Given the description of an element on the screen output the (x, y) to click on. 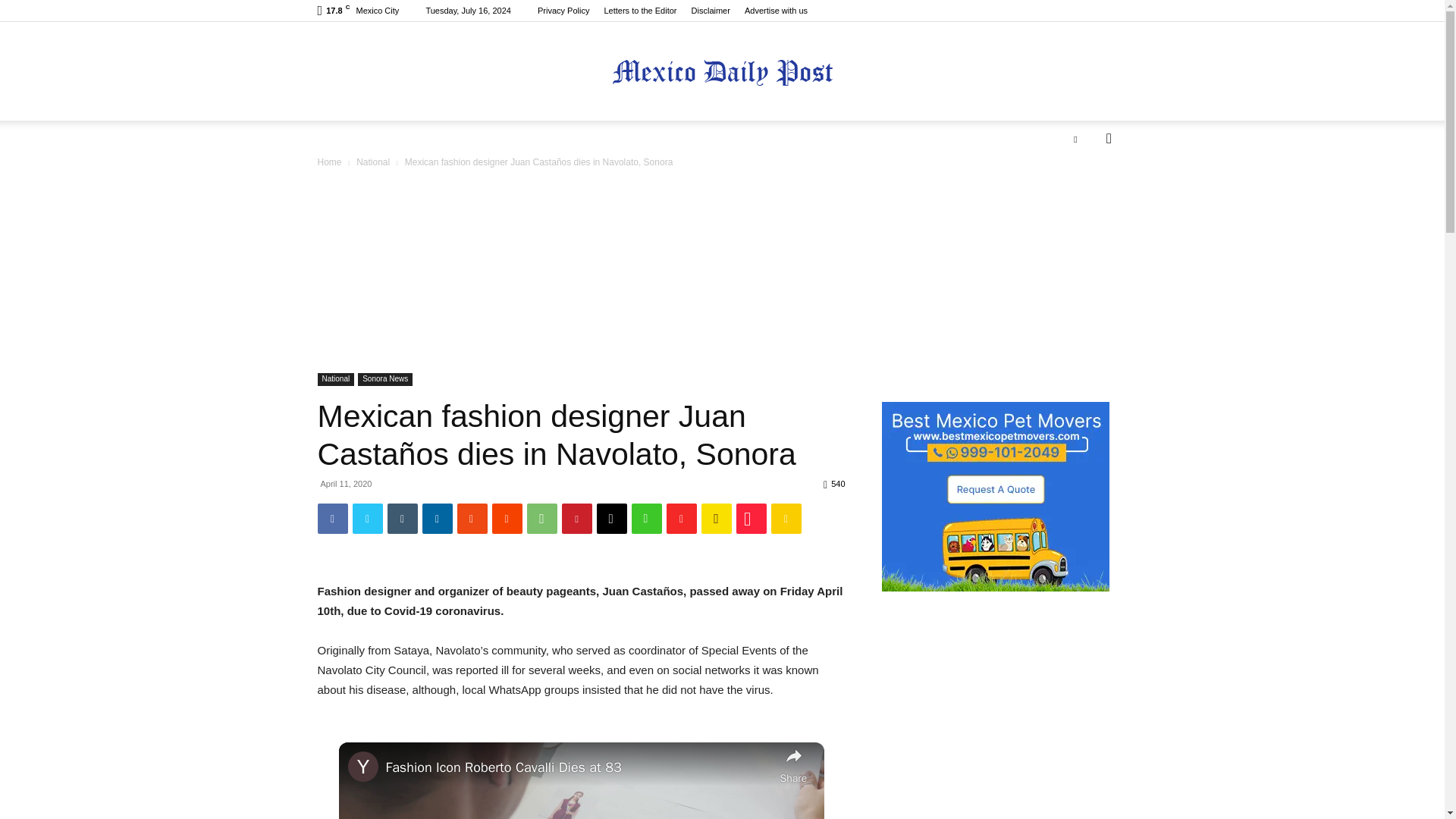
Mix (471, 518)
ReddIt (506, 518)
Tumblr (401, 518)
Privacy Policy (563, 10)
Flip (680, 518)
Sonora News (385, 379)
National (335, 379)
Digg (610, 518)
Pinterest (575, 518)
Twitter (366, 518)
Home (328, 162)
Facebook (332, 518)
Advertise with us (776, 10)
Mexico Daily Post (721, 72)
WhatsApp (540, 518)
